Given the description of an element on the screen output the (x, y) to click on. 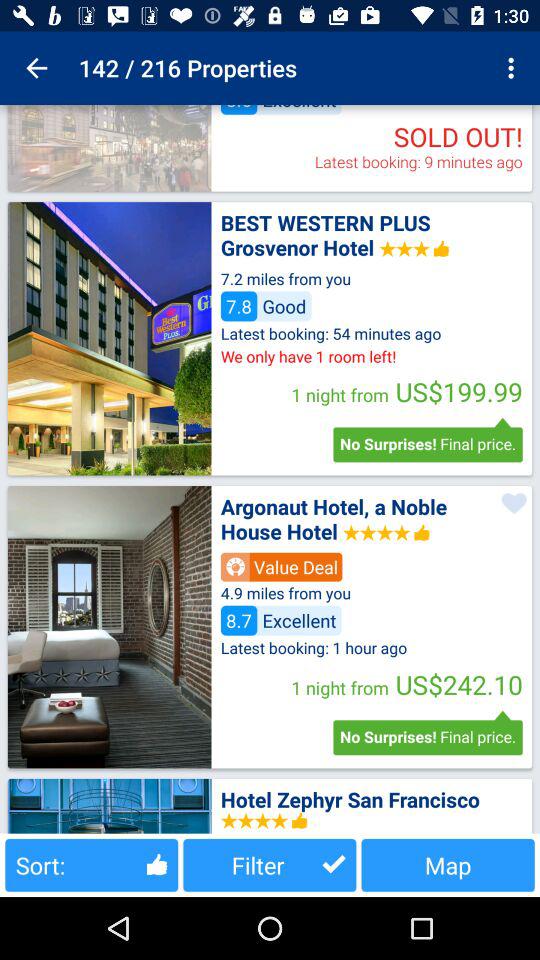
open hotel listing (109, 627)
